Given the description of an element on the screen output the (x, y) to click on. 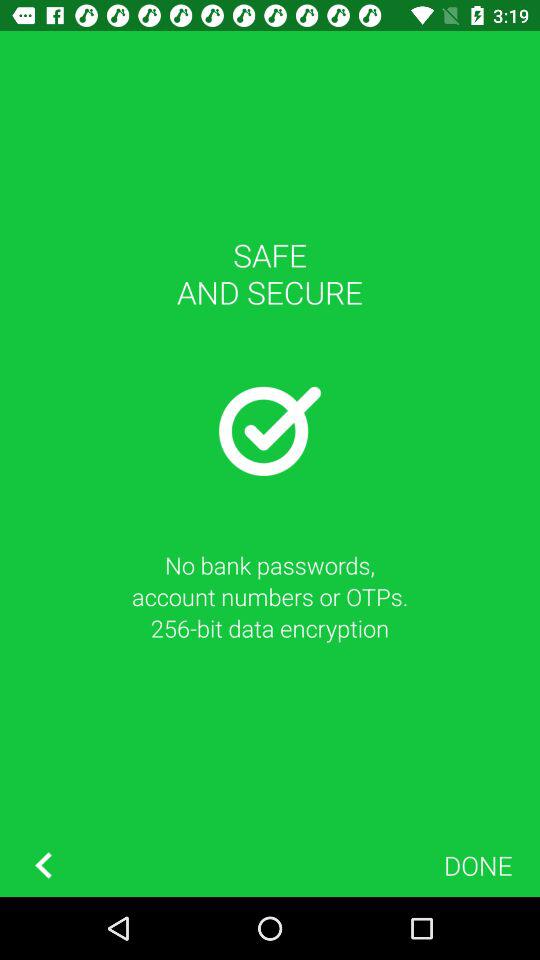
press icon below no bank passwords item (478, 864)
